Given the description of an element on the screen output the (x, y) to click on. 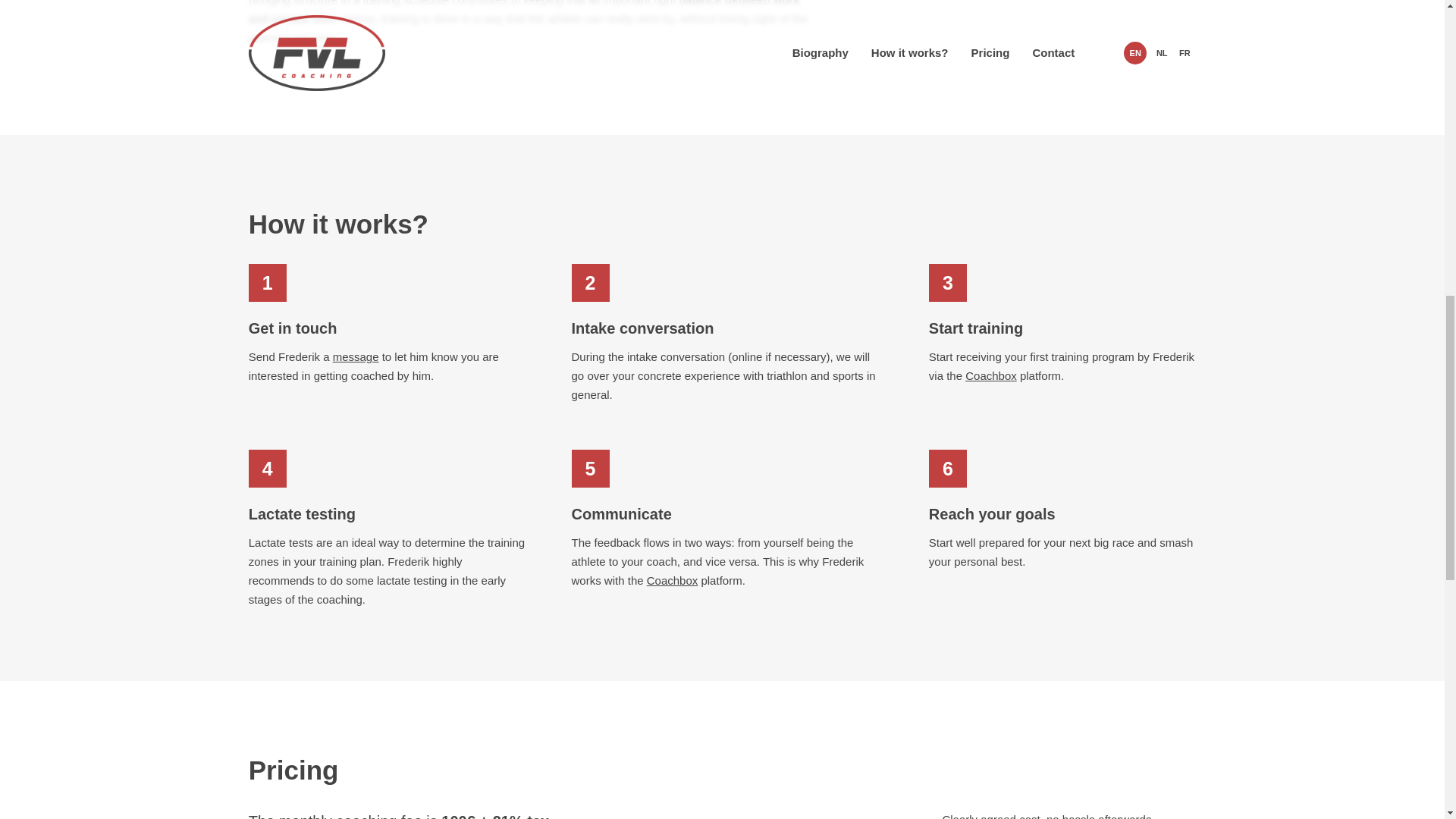
message (355, 356)
Coachbox (990, 375)
Coachbox (672, 580)
